Given the description of an element on the screen output the (x, y) to click on. 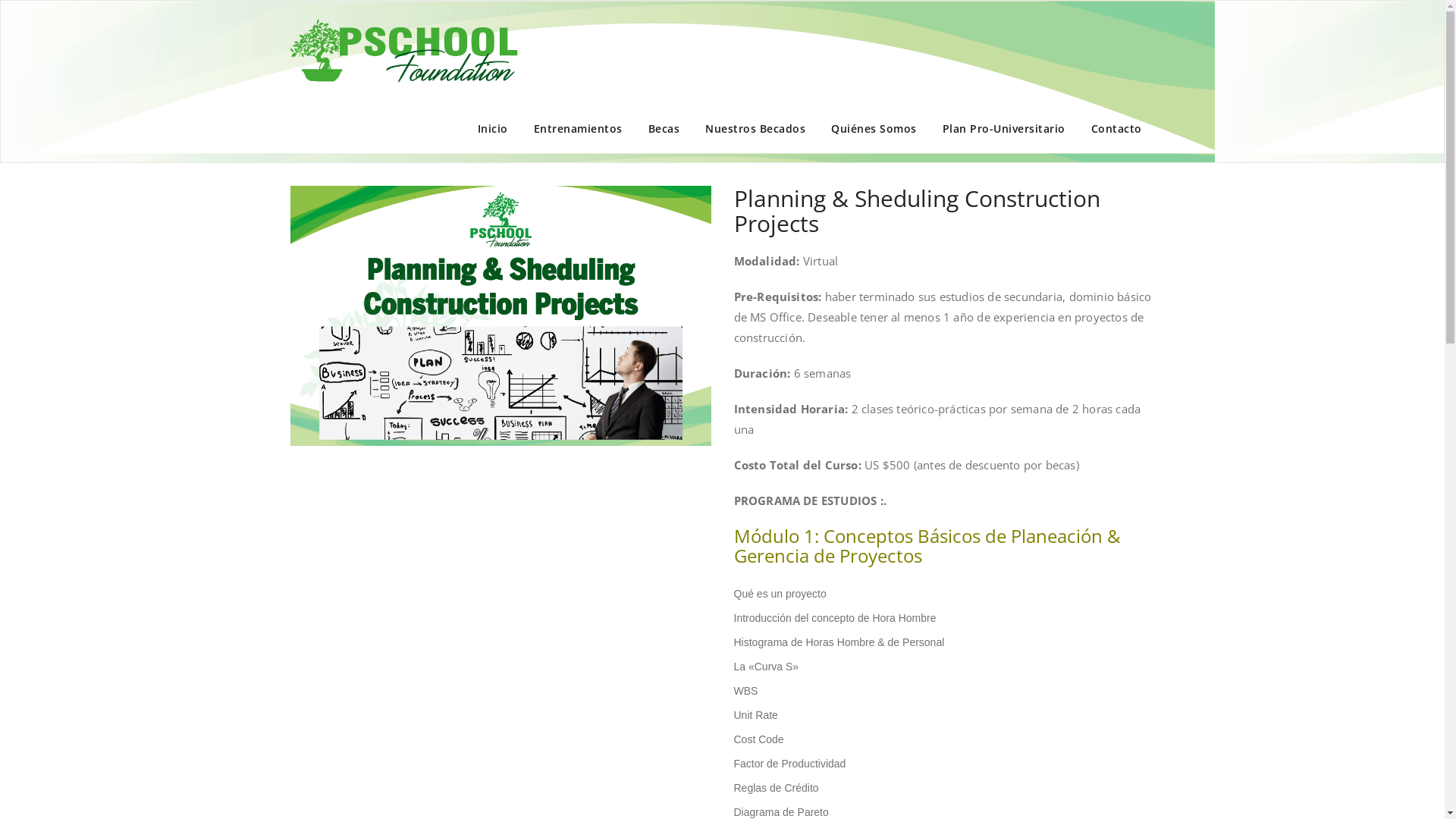
Plan Pro-Universitario Element type: text (1003, 128)
Nuestros Becados Element type: text (755, 128)
Becas Element type: text (664, 128)
Entrenamientos Element type: text (577, 128)
Contacto Element type: text (1116, 128)
Inicio Element type: text (492, 128)
